Given the description of an element on the screen output the (x, y) to click on. 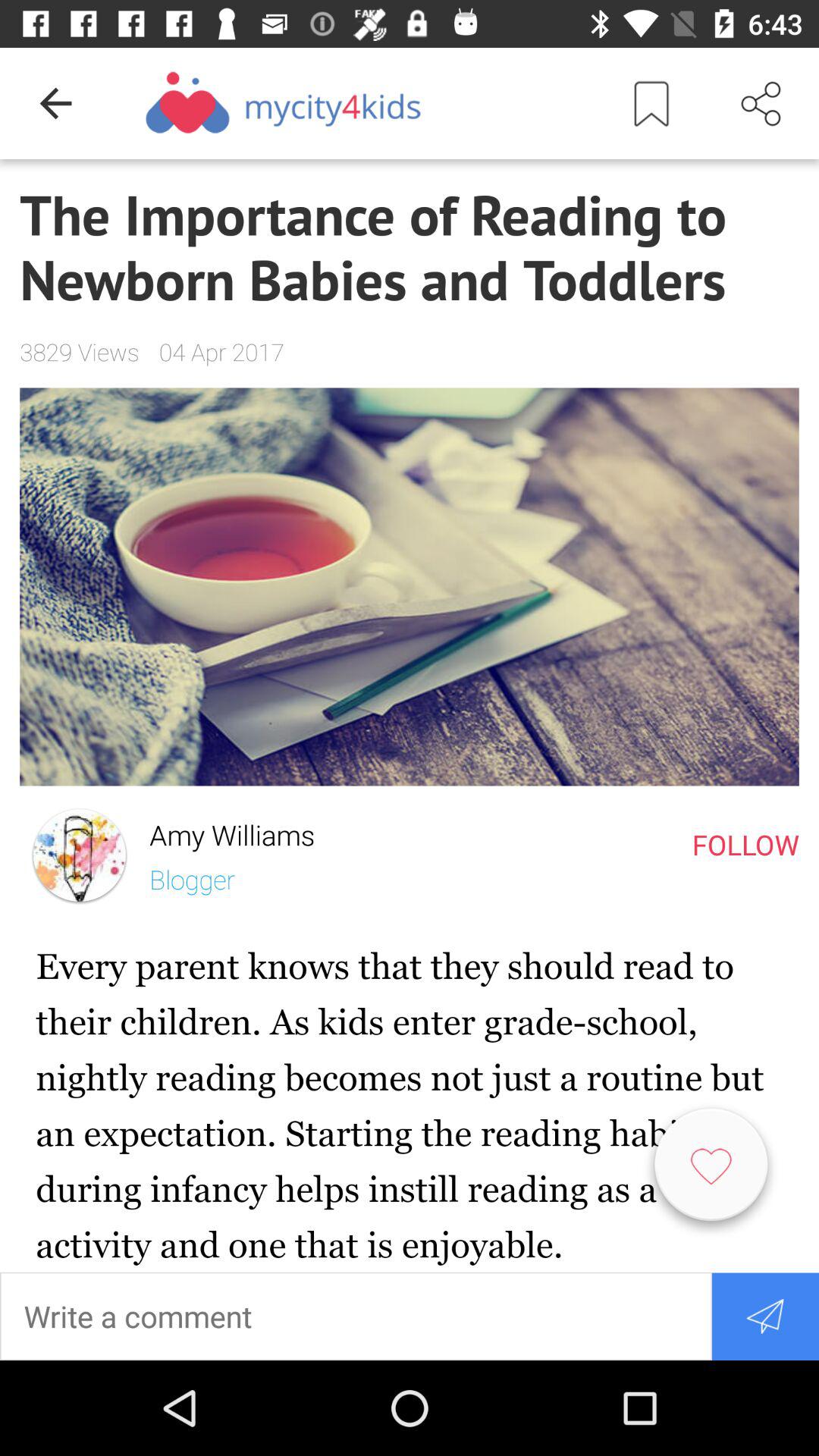
send (764, 1316)
